Given the description of an element on the screen output the (x, y) to click on. 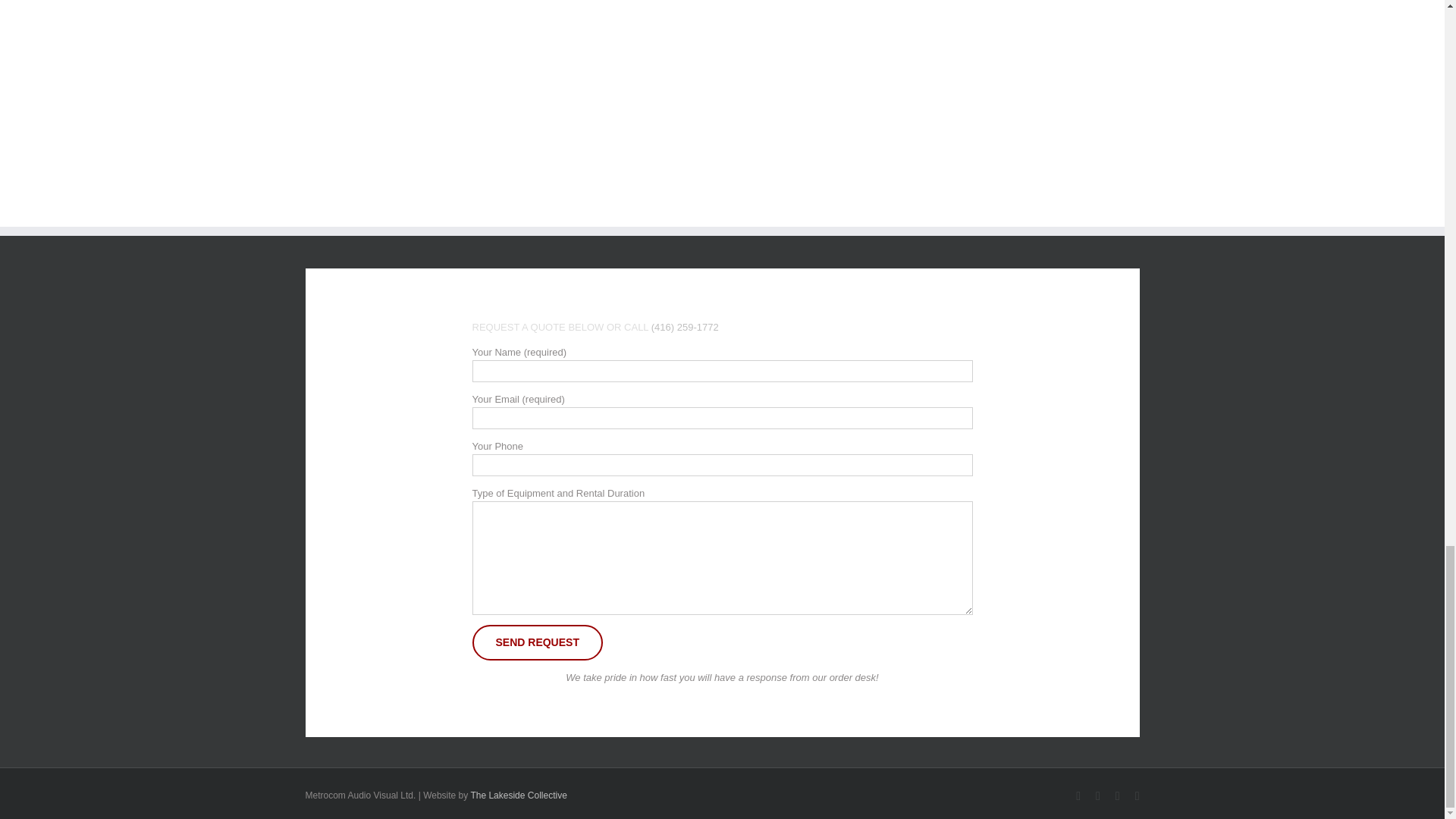
Send request (536, 642)
